Given the description of an element on the screen output the (x, y) to click on. 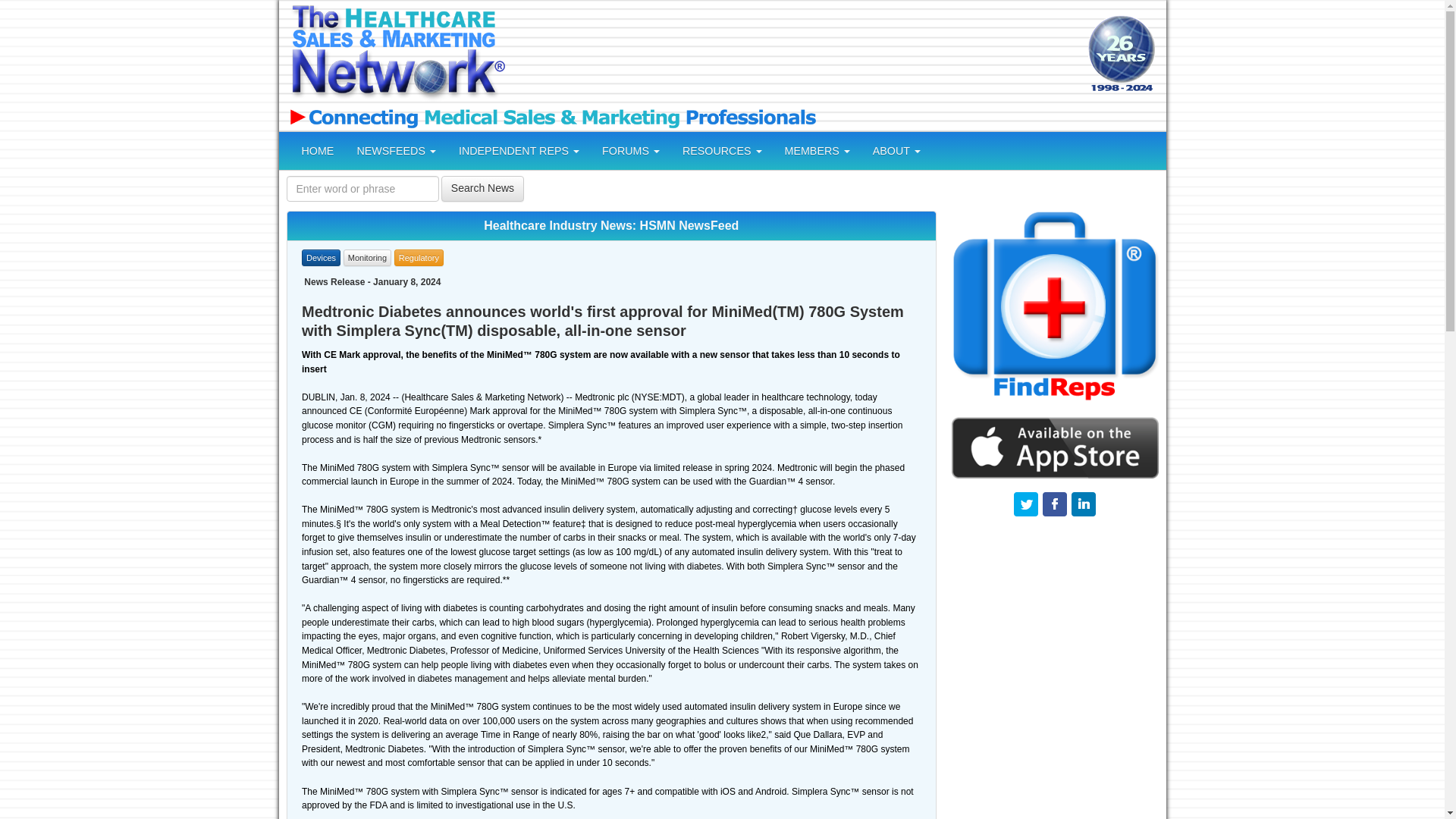
NEWSFEEDS  (395, 150)
FORUMS  (631, 150)
Search News (482, 188)
RESOURCES  (722, 150)
HOME (317, 150)
INDEPENDENT REPS  (518, 150)
Advertisement (794, 55)
